Given the description of an element on the screen output the (x, y) to click on. 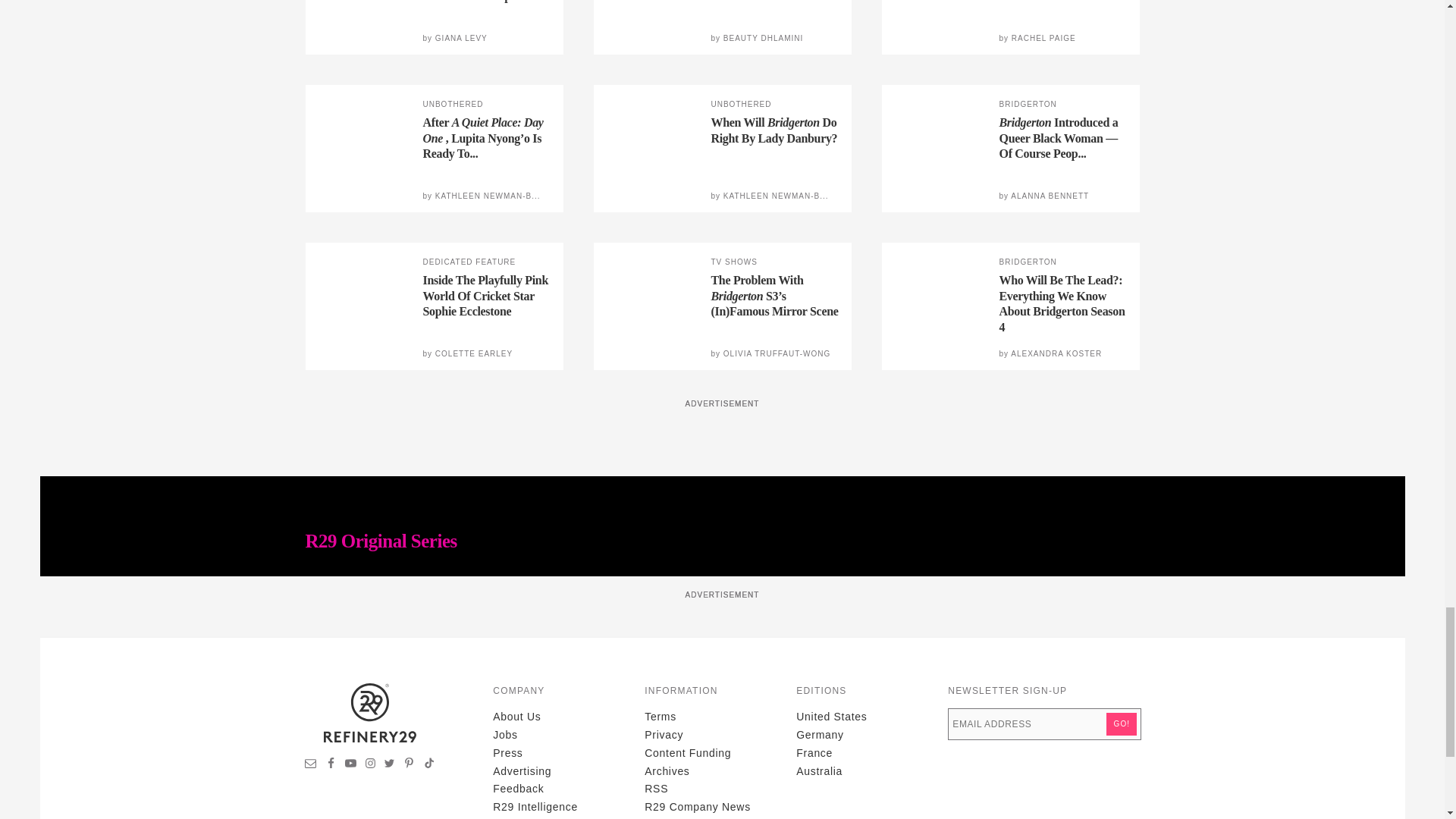
Visit Refinery29 on YouTube (350, 765)
Sign up for newsletters (310, 765)
Visit Refinery29 on TikTok (428, 765)
